Given the description of an element on the screen output the (x, y) to click on. 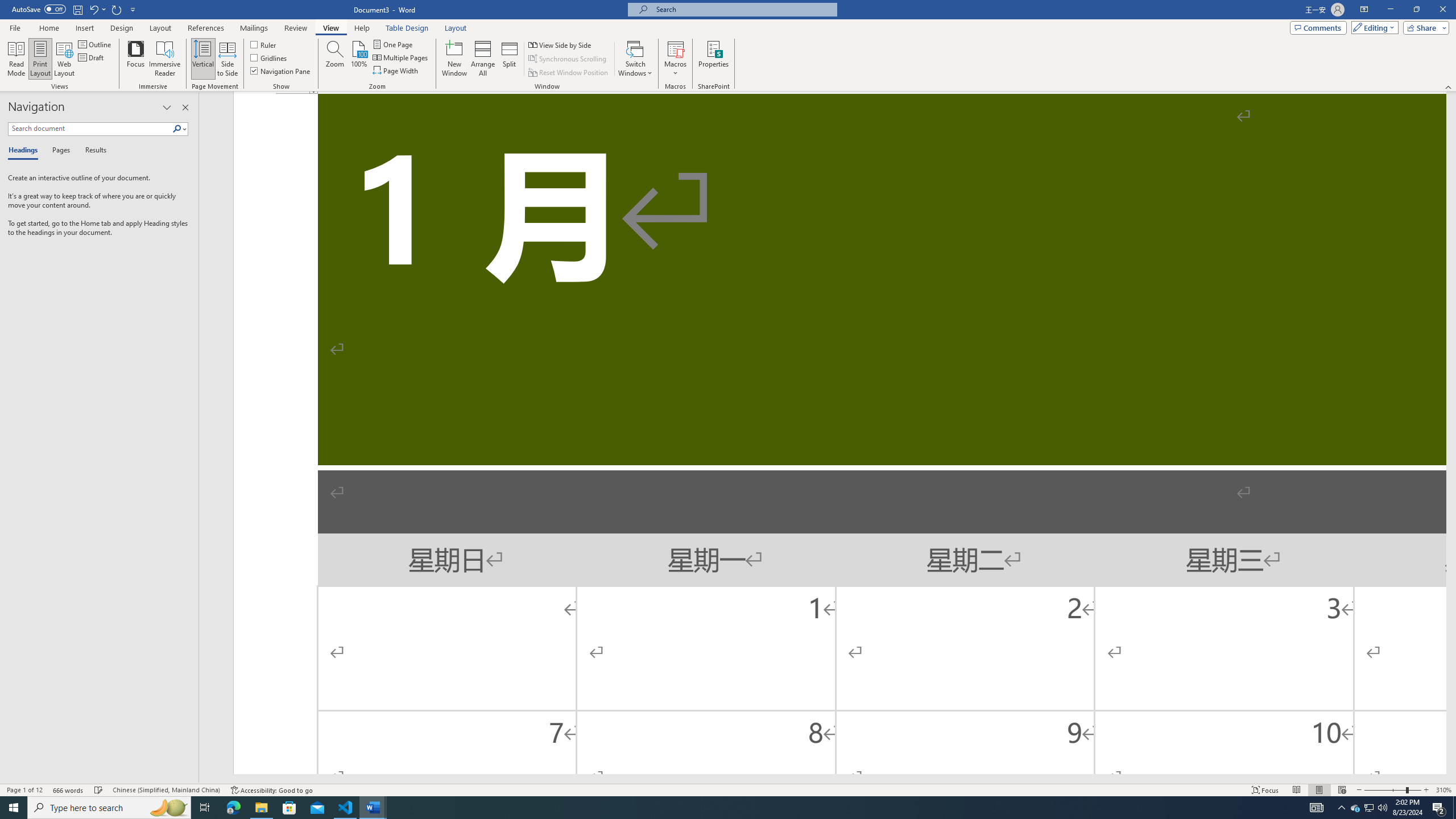
Outline (95, 44)
Page 1 content (838, 433)
Help (361, 28)
View Side by Side (561, 44)
Page Width (396, 69)
Mode (1372, 27)
Split (509, 58)
Draft (91, 56)
Multiple Pages (400, 56)
Undo Increase Indent (92, 9)
Word Count 666 words (68, 790)
Immersive Reader (165, 58)
Class: NetUIScrollBar (822, 778)
